Given the description of an element on the screen output the (x, y) to click on. 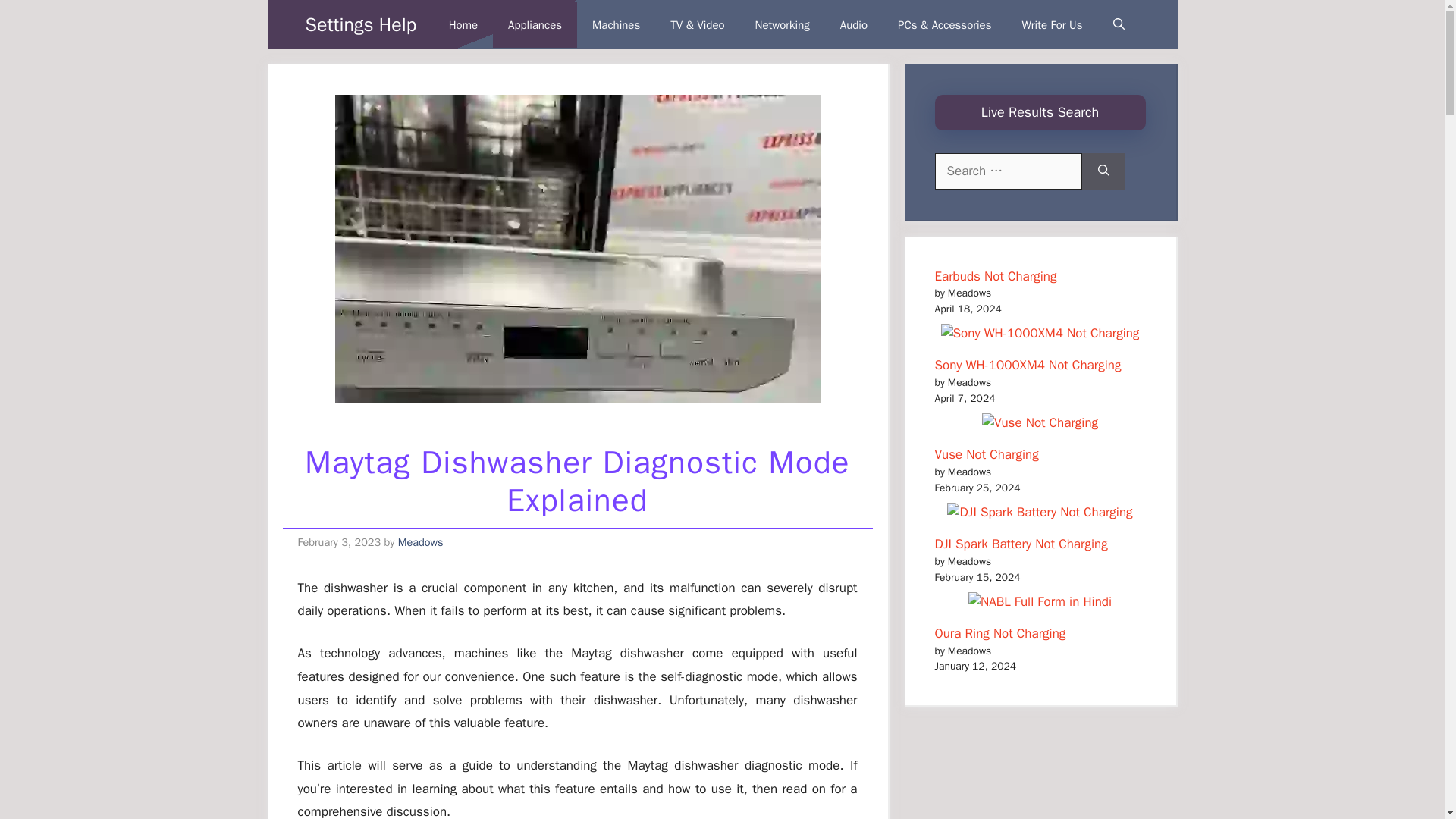
Meadows (420, 541)
Write For Us (1052, 23)
Settings Help (360, 24)
Audio (853, 23)
Home (463, 23)
Appliances (534, 23)
Machines (615, 23)
Networking (782, 23)
View all posts by Meadows (420, 541)
